Given the description of an element on the screen output the (x, y) to click on. 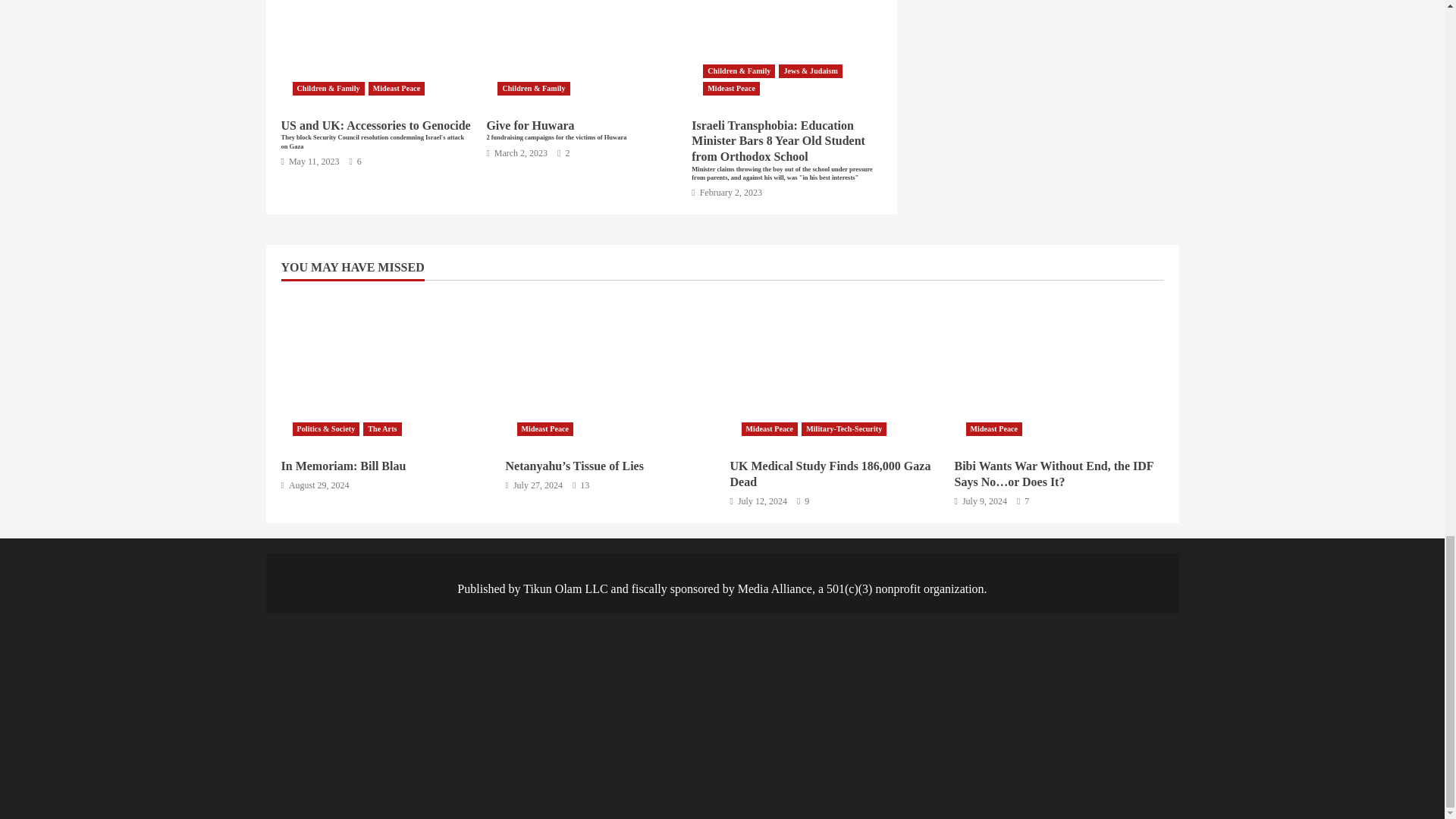
Mideast Peace (396, 88)
2 (563, 153)
Mideast Peace (731, 88)
6 (355, 161)
